Given the description of an element on the screen output the (x, y) to click on. 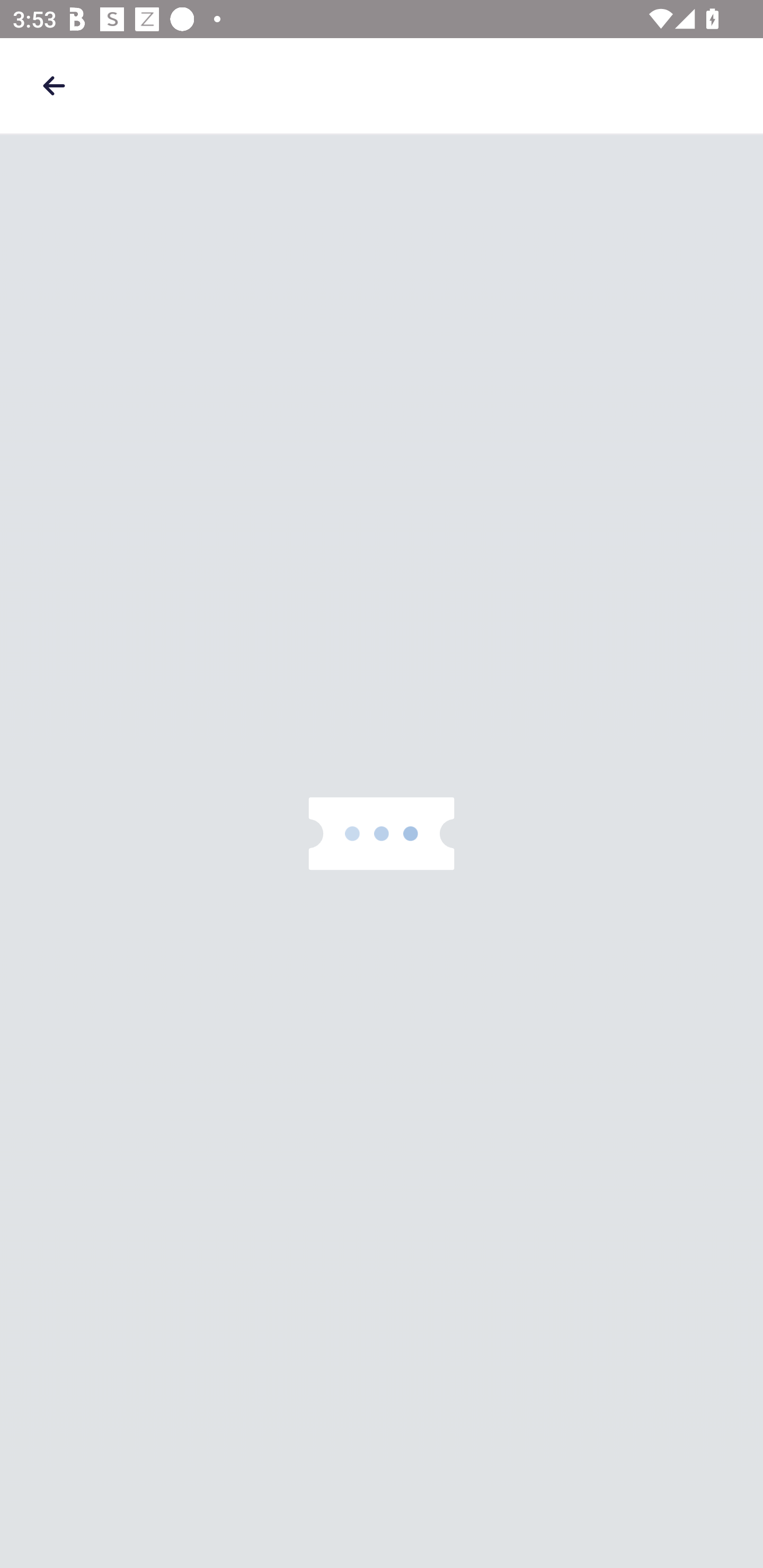
back button (53, 85)
